Given the description of an element on the screen output the (x, y) to click on. 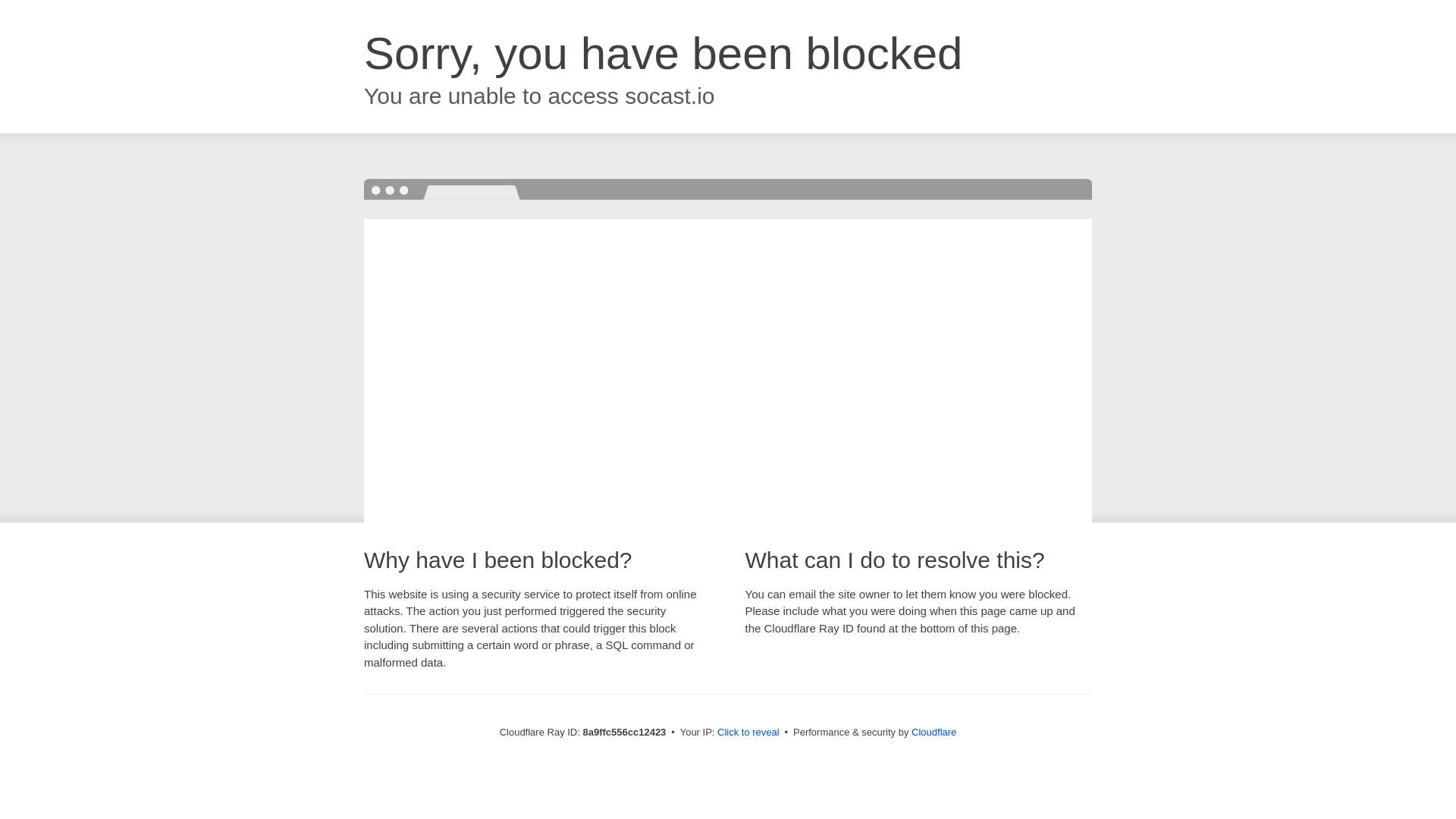
Cloudflare (933, 731)
Click to reveal (747, 732)
